Given the description of an element on the screen output the (x, y) to click on. 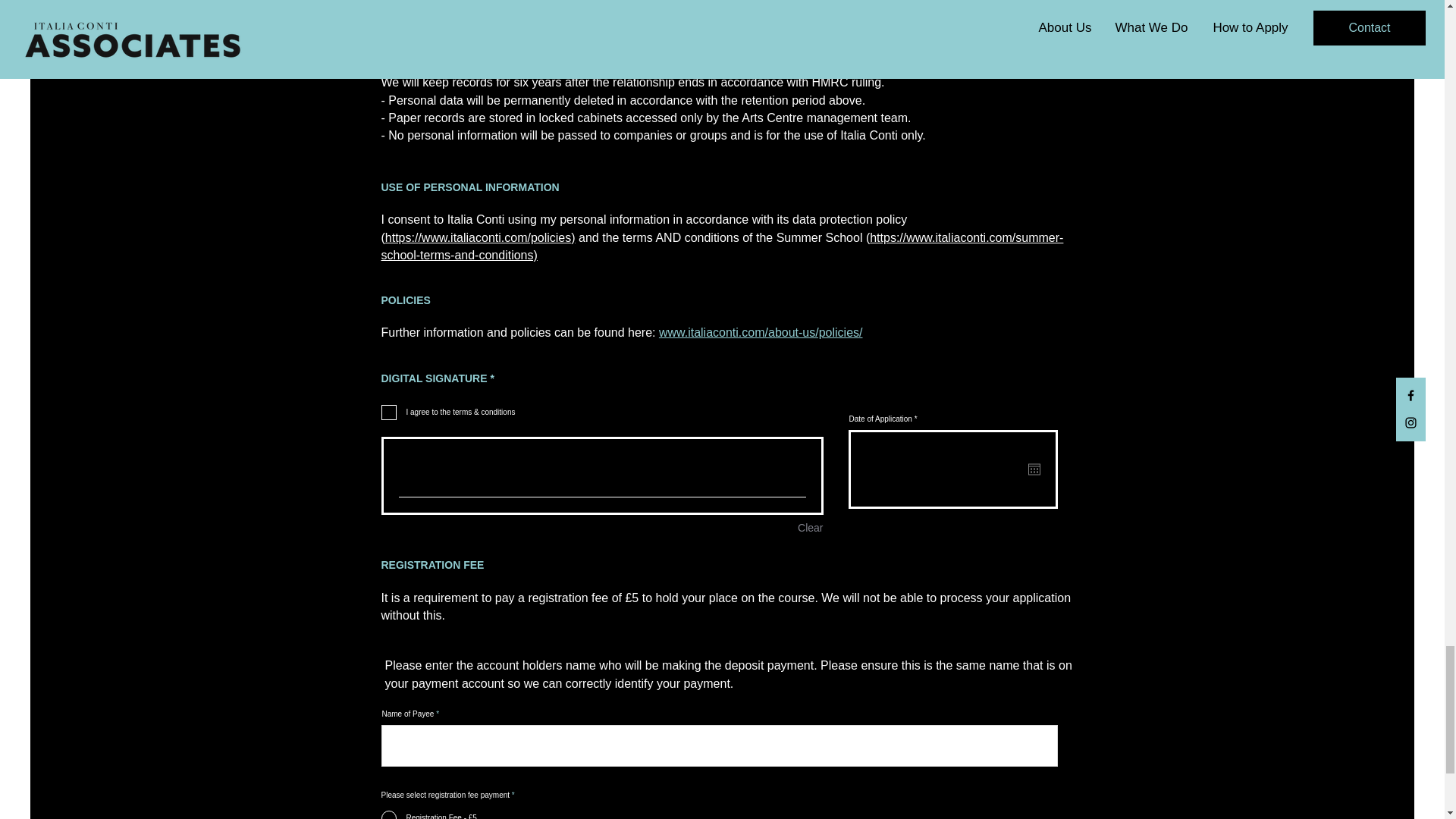
Clear (809, 528)
